Given the description of an element on the screen output the (x, y) to click on. 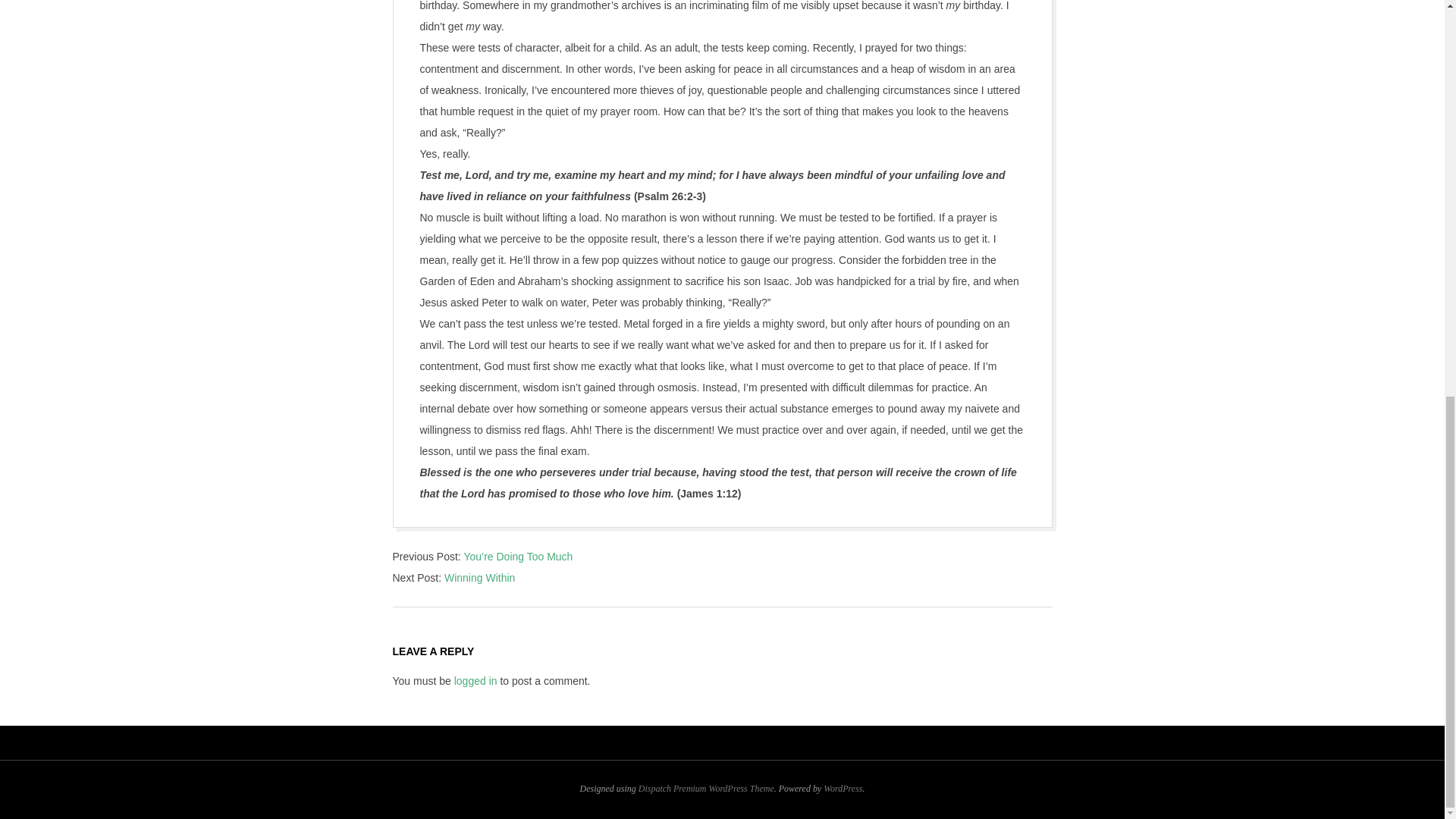
State-of-the-art semantic personal publishing platform (842, 787)
Dispatch Premium WordPress Theme (706, 787)
logged in (475, 680)
Winning Within (479, 577)
Dispatch Premium WordPress Theme (706, 787)
WordPress (842, 787)
